Given the description of an element on the screen output the (x, y) to click on. 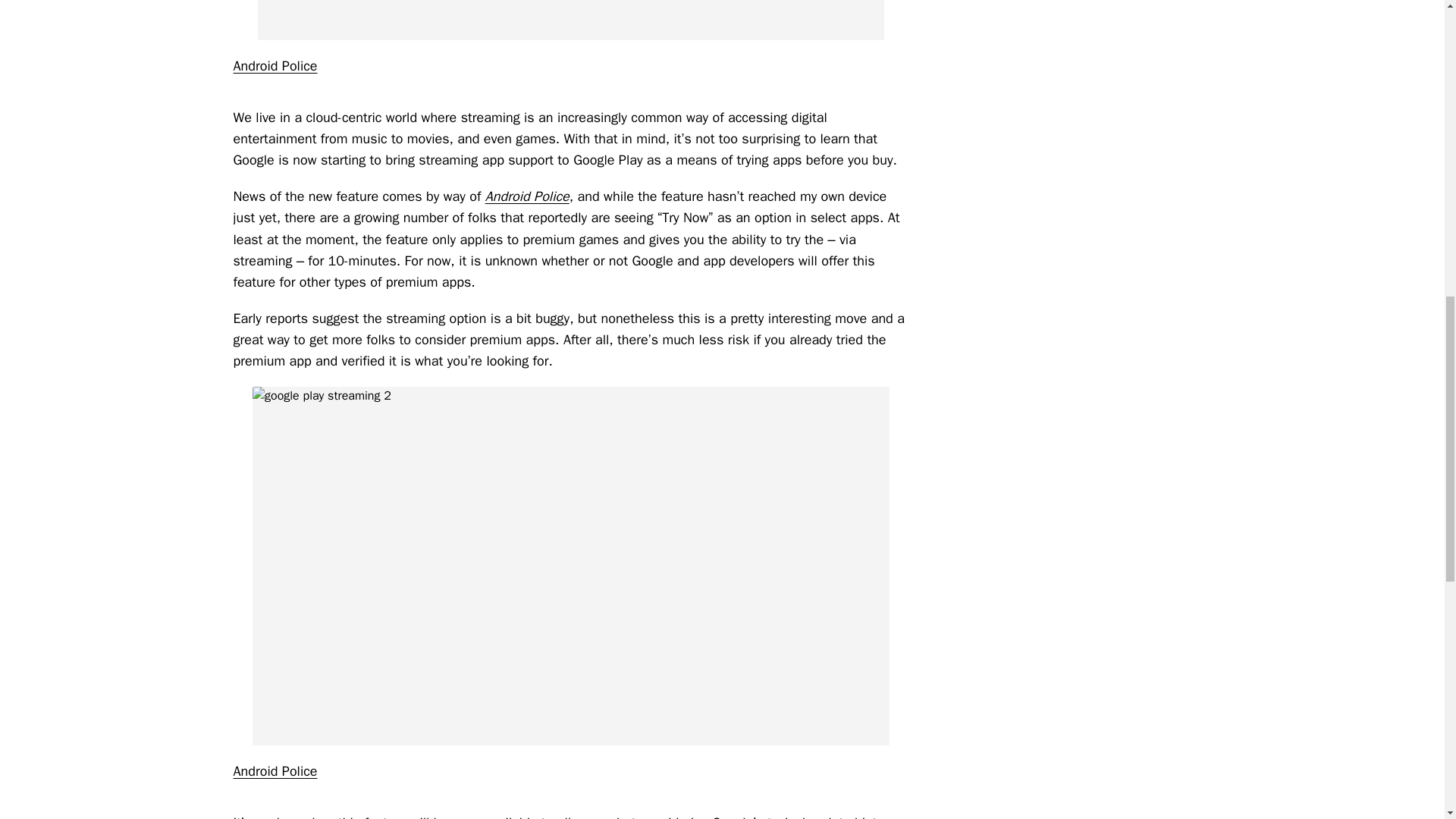
Android Police (274, 65)
Android Police (274, 770)
google play streaming (570, 20)
Android Police (526, 196)
